Given the description of an element on the screen output the (x, y) to click on. 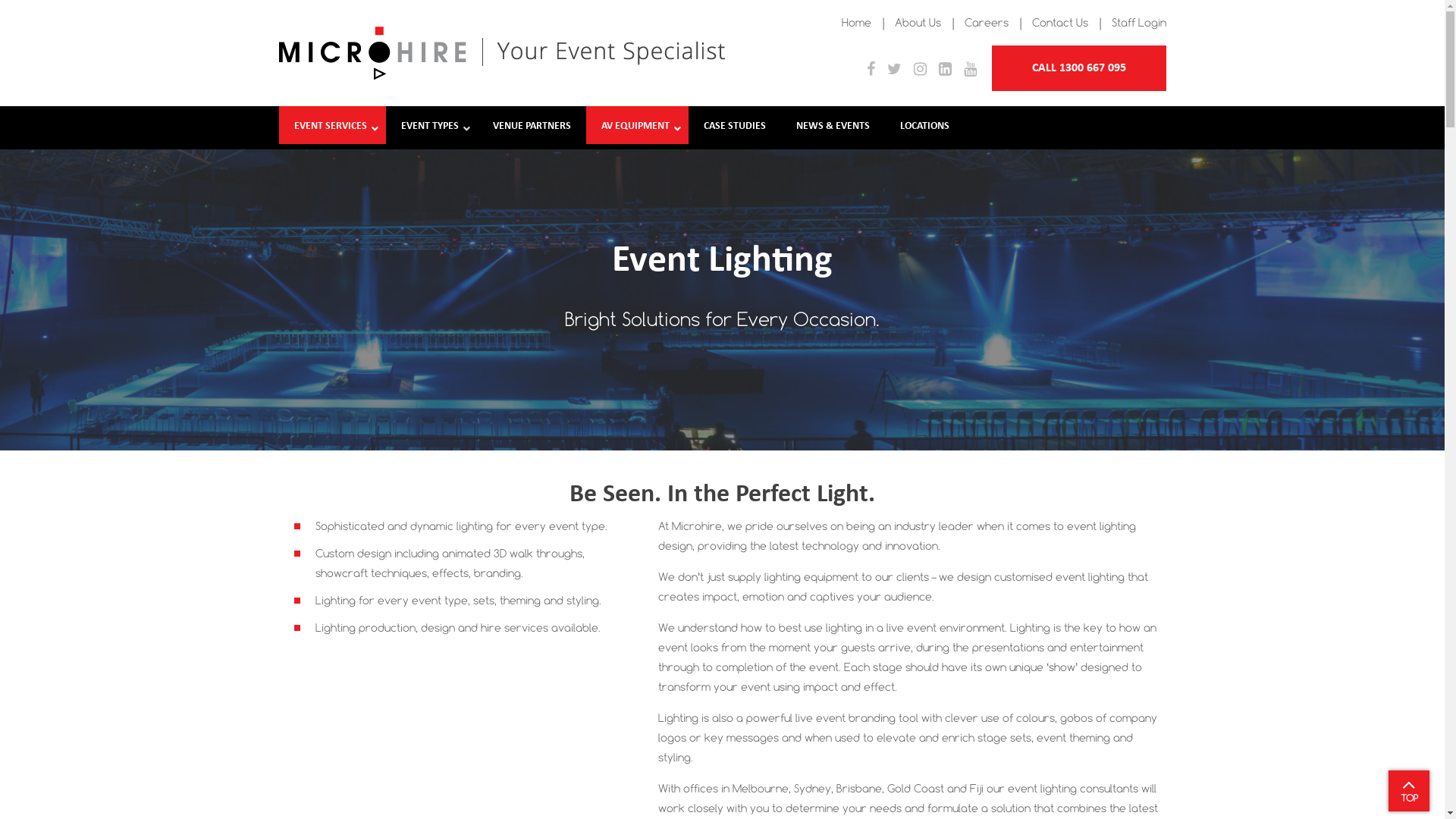
CASE STUDIES Element type: text (734, 127)
Twitter Element type: hover (894, 69)
Careers Element type: text (986, 22)
NEWS & EVENTS Element type: text (832, 127)
Facebook Element type: hover (870, 69)
VENUE PARTNERS Element type: text (531, 127)
About Us Element type: text (917, 22)
AV EQUIPMENT Element type: text (636, 127)
LOCATIONS Element type: text (923, 127)
EVENT SERVICES Element type: text (332, 127)
EVENT TYPES Element type: text (430, 127)
Staff Login Element type: text (1138, 22)
microhire events services Element type: hover (501, 52)
Youtube Element type: hover (969, 69)
Contact Us Element type: text (1059, 22)
linkedin Element type: hover (944, 69)
Home Element type: text (856, 22)
CALL 1300 667 095 Element type: text (1078, 68)
Instagram Element type: hover (919, 69)
